Given the description of an element on the screen output the (x, y) to click on. 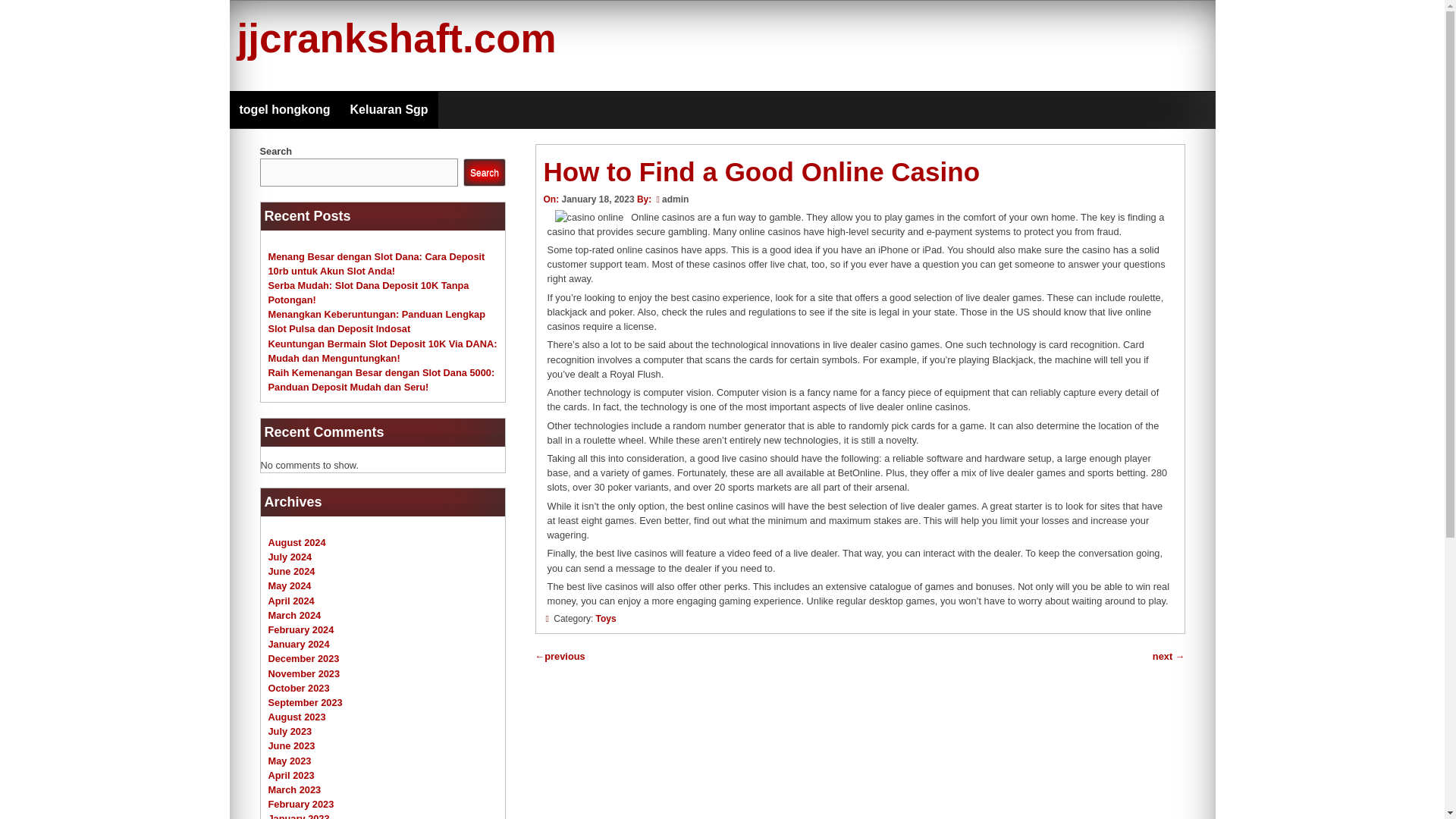
June 2023 (291, 745)
March 2024 (294, 614)
October 2023 (298, 687)
Toys (605, 618)
December 2023 (303, 658)
August 2024 (296, 542)
February 2024 (300, 629)
April 2023 (290, 775)
Serba Mudah: Slot Dana Deposit 10K Tanpa Potongan! (367, 292)
